Given the description of an element on the screen output the (x, y) to click on. 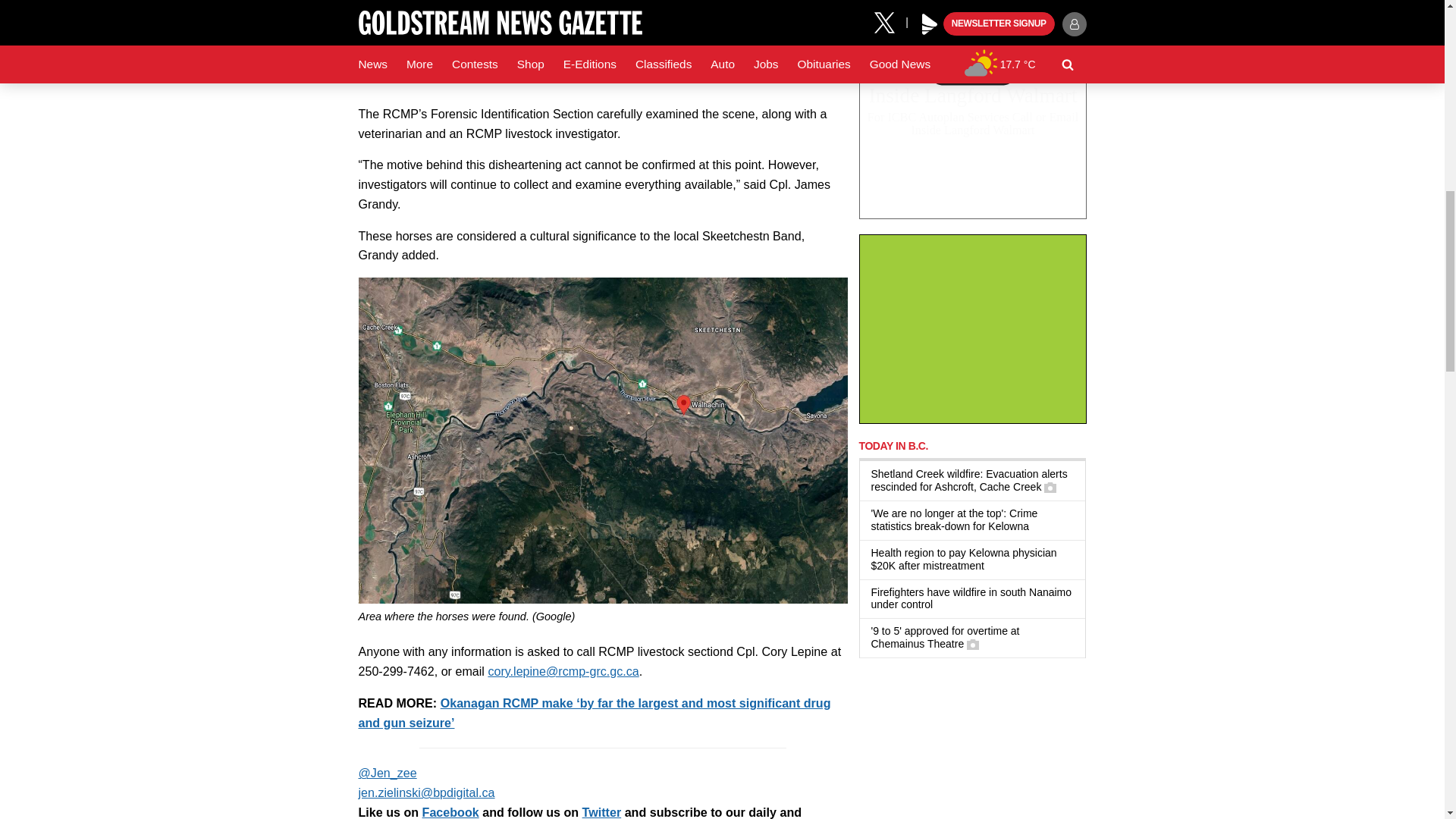
Has a gallery (972, 644)
3rd party ad content (972, 329)
3rd party ad content (972, 124)
3rd party ad content (972, 746)
Has a gallery (1050, 487)
